Given the description of an element on the screen output the (x, y) to click on. 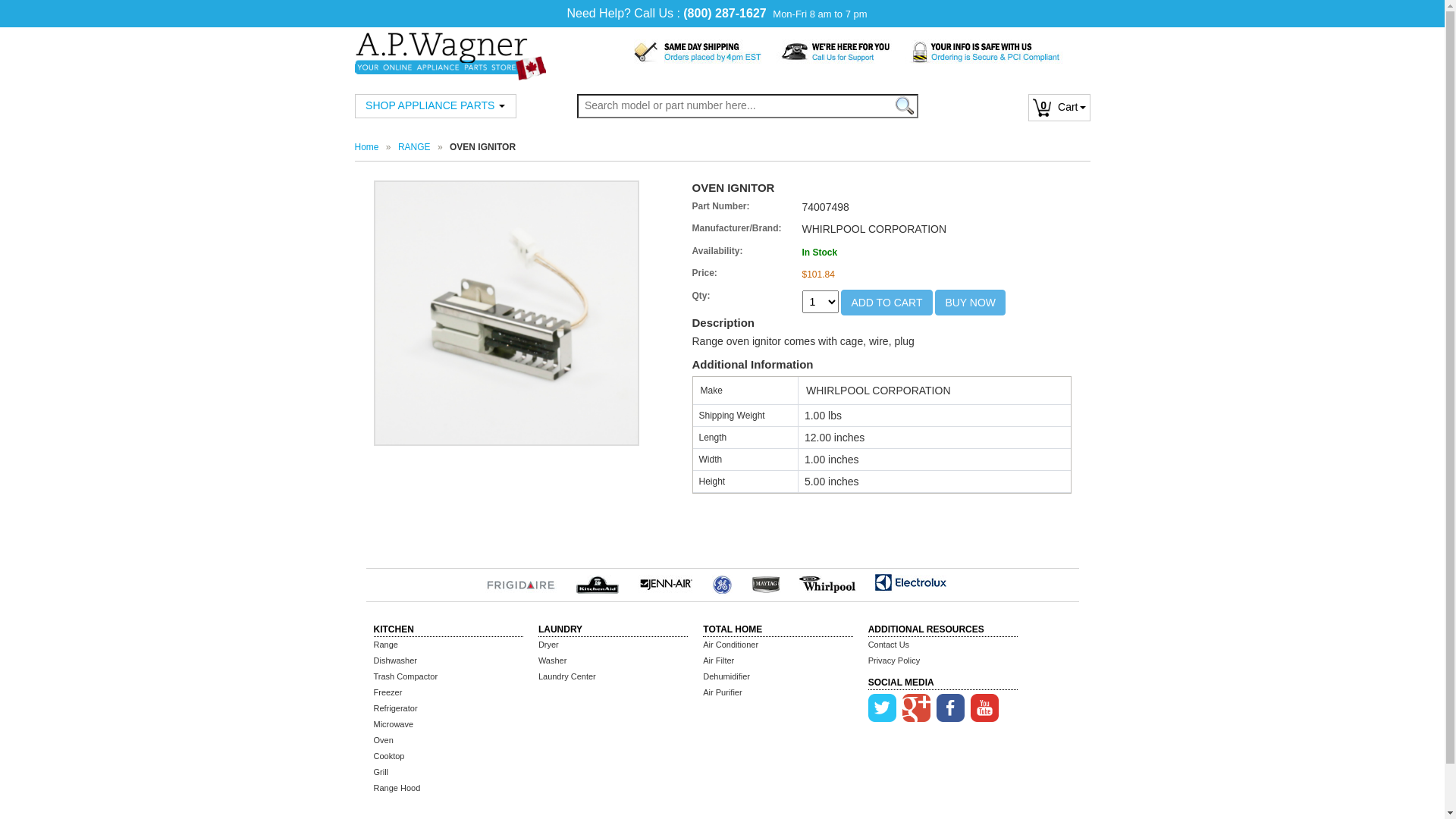
Freezer Element type: text (387, 692)
APWagner Appliance Parts Element type: hover (450, 48)
Cooktop Element type: text (388, 756)
Dehumidifier Element type: text (725, 676)
Air Purifier Element type: text (721, 692)
0
Cart Element type: text (1058, 106)
Oven Element type: text (382, 740)
Electrolux Element type: text (911, 582)
Washer Element type: text (552, 660)
Frigidaire Element type: text (520, 582)
Refrigerator Element type: text (395, 708)
Dishwasher Element type: text (394, 660)
RANGE Element type: text (414, 146)
Privacy Policy Element type: text (893, 660)
KitchenAid Element type: text (596, 582)
Contact Us Element type: text (888, 644)
Air Conditioner Element type: text (730, 644)
Grill Element type: text (380, 772)
Range Hood Element type: text (396, 788)
Jenn-Air Element type: text (665, 582)
Home Element type: text (366, 146)
Whirlpool Element type: text (826, 582)
Laundry Center Element type: text (567, 676)
Air Filter Element type: text (718, 660)
MayTag Element type: text (765, 582)
Dryer Element type: text (548, 644)
GE Element type: text (721, 582)
Trash Compactor Element type: text (405, 676)
Microwave Element type: text (393, 724)
ADD TO CART Element type: text (885, 302)
SHOP APPLIANCE PARTS Element type: text (435, 105)
Range Element type: text (385, 644)
BUY NOW Element type: text (970, 302)
